Given the description of an element on the screen output the (x, y) to click on. 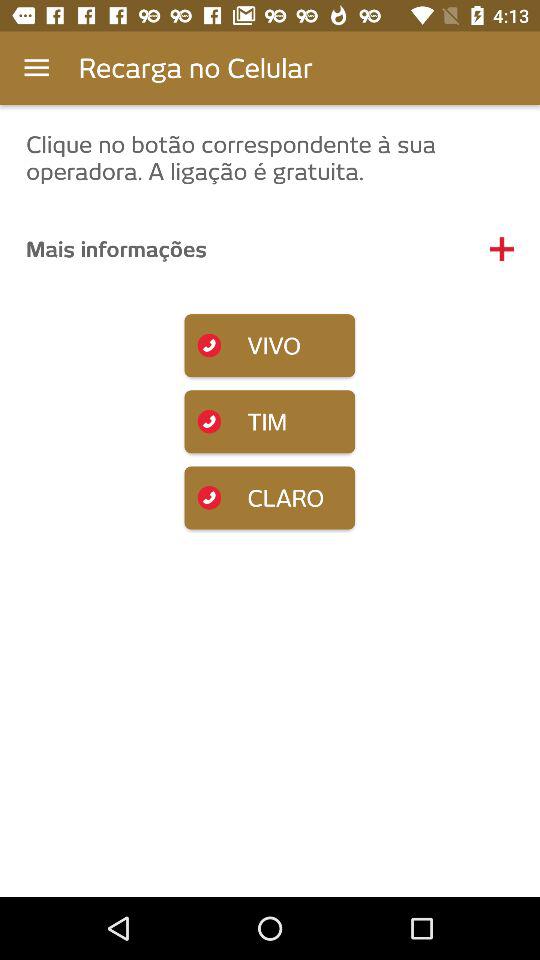
launch the app to the left of the recarga no celular item (36, 68)
